Given the description of an element on the screen output the (x, y) to click on. 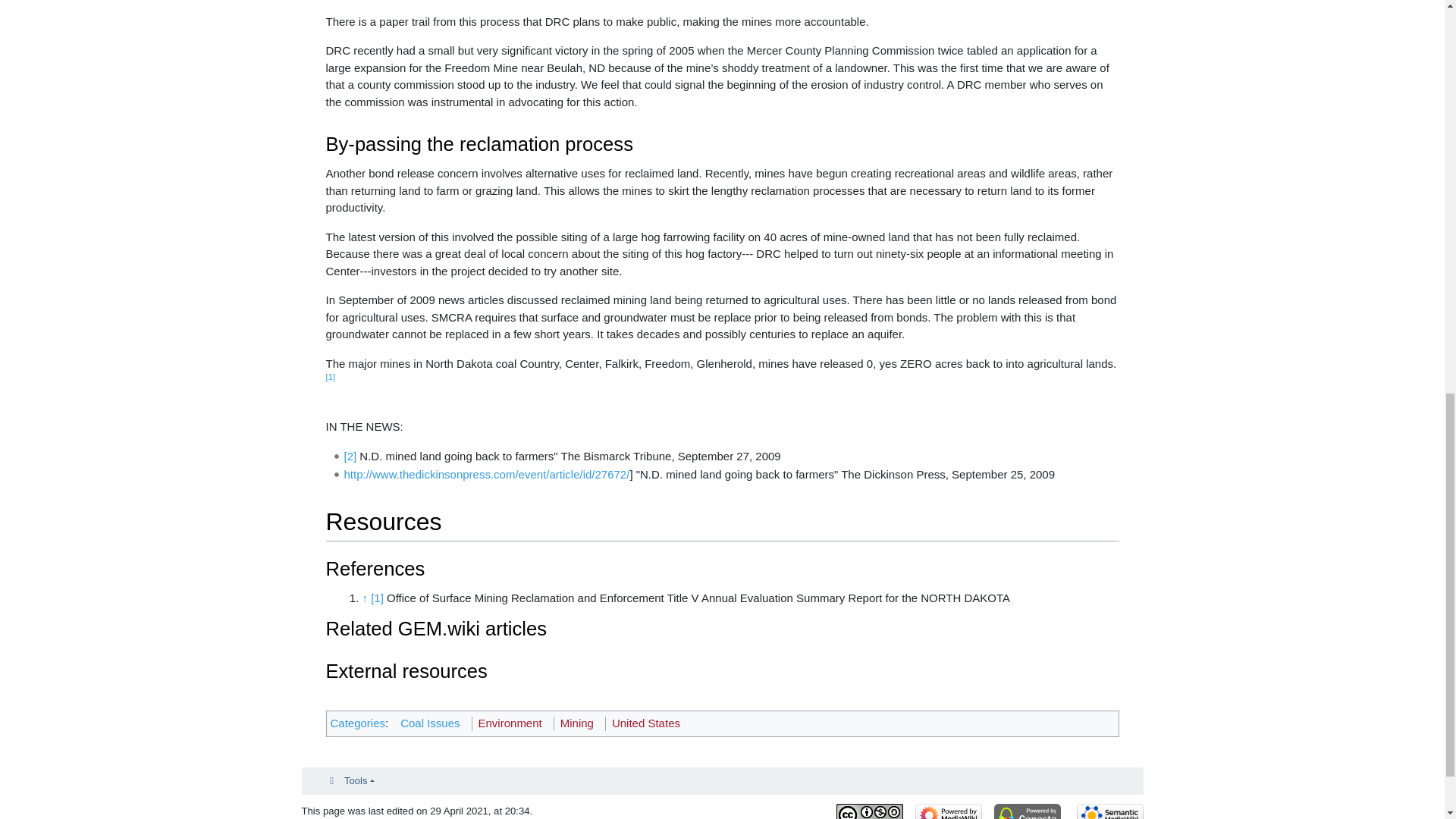
Special:Categories (357, 722)
Category:Coal Issues (430, 722)
